Given the description of an element on the screen output the (x, y) to click on. 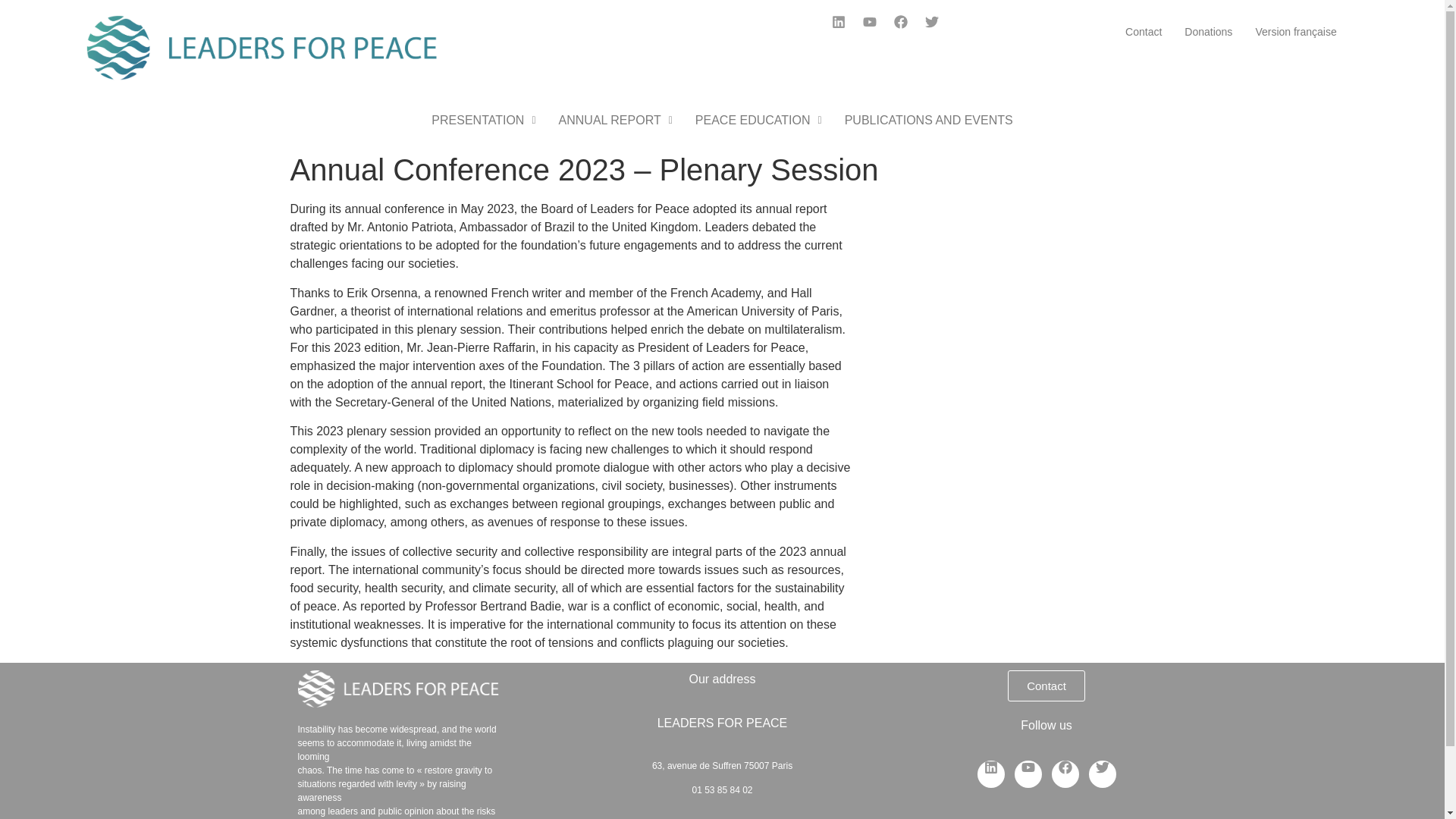
Contact (1143, 31)
ANNUAL REPORT (615, 120)
Contact (1045, 685)
PEACE EDUCATION (758, 120)
PUBLICATIONS AND EVENTS (928, 120)
PRESENTATION (483, 120)
Donations (1208, 31)
